Given the description of an element on the screen output the (x, y) to click on. 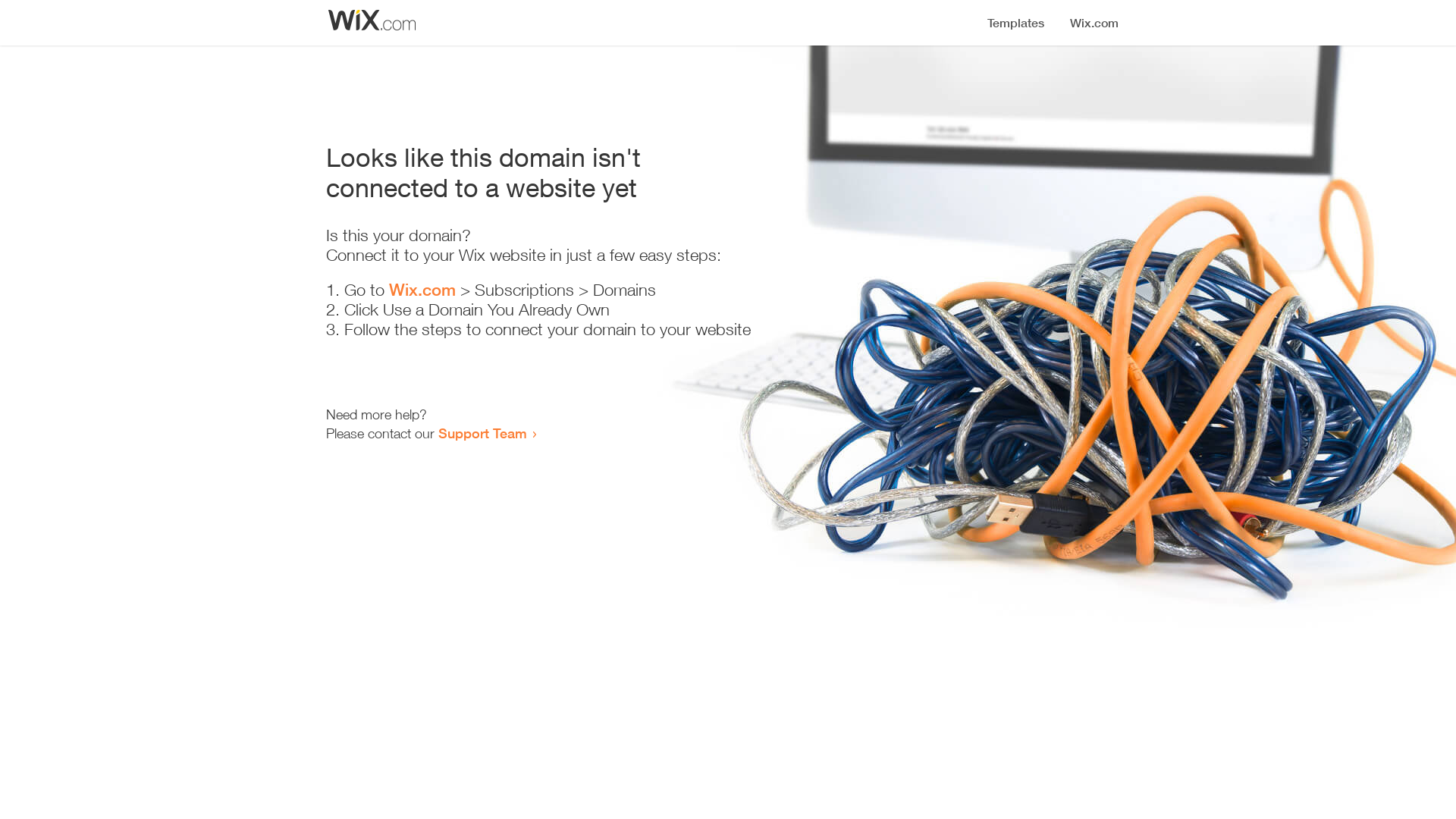
Wix.com Element type: text (422, 289)
Support Team Element type: text (482, 432)
